Given the description of an element on the screen output the (x, y) to click on. 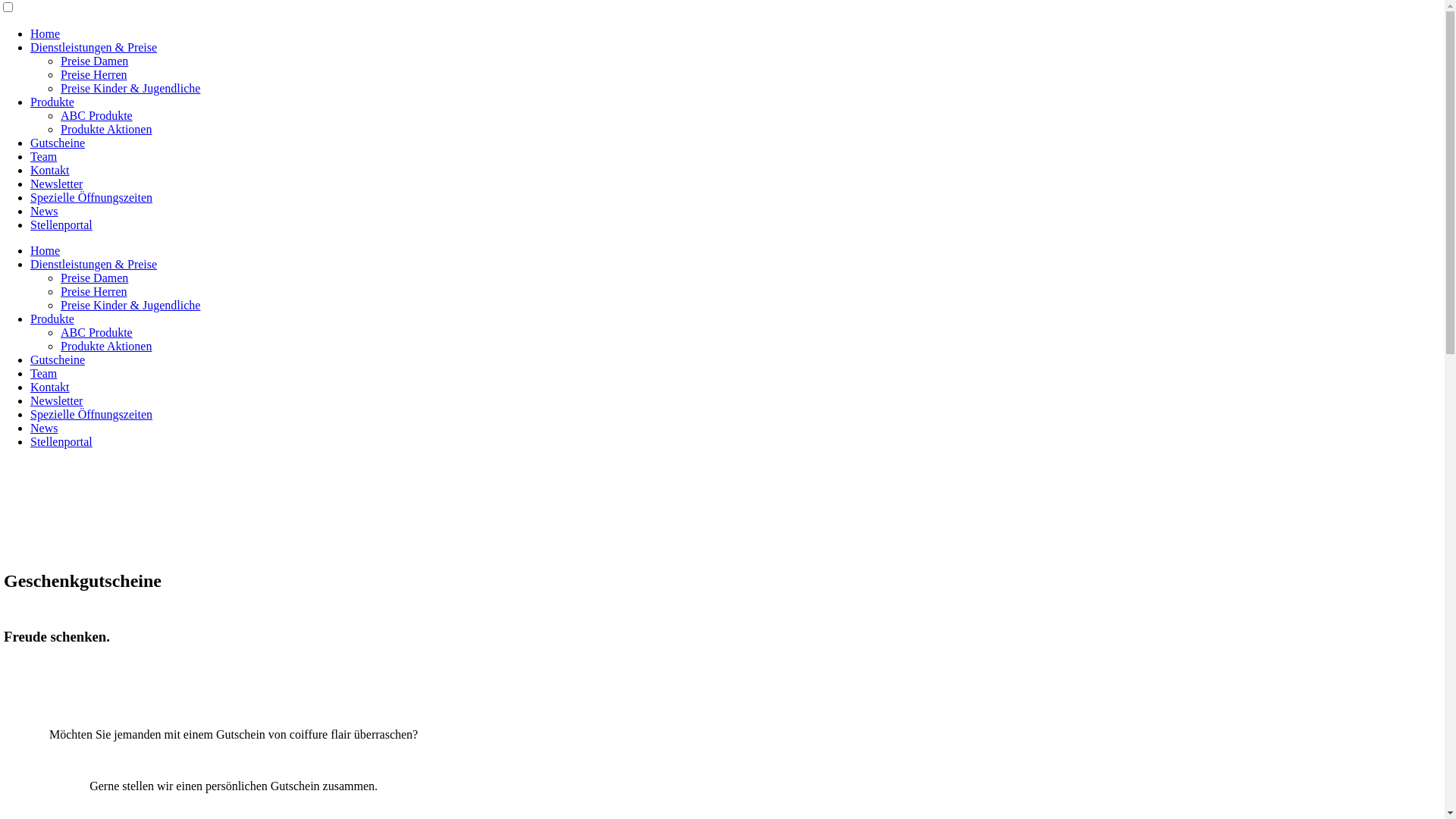
Home Element type: text (44, 250)
News Element type: text (43, 427)
ABC Produkte Element type: text (96, 115)
Newsletter Element type: text (56, 183)
ABC Produkte Element type: text (96, 332)
Kontakt Element type: text (49, 386)
Produkte Aktionen Element type: text (105, 345)
News Element type: text (43, 210)
Dienstleistungen & Preise Element type: text (93, 263)
Newsletter Element type: text (56, 400)
Preise Kinder & Jugendliche Element type: text (130, 304)
Produkte Element type: text (52, 318)
Preise Damen Element type: text (94, 60)
Stellenportal Element type: text (61, 441)
Preise Kinder & Jugendliche Element type: text (130, 87)
Preise Damen Element type: text (94, 277)
Home Element type: text (44, 33)
Kontakt Element type: text (49, 169)
Gutscheine Element type: text (57, 359)
Dienstleistungen & Preise Element type: text (93, 46)
Preise Herren Element type: text (93, 291)
Produkte Aktionen Element type: text (105, 128)
Team Element type: text (43, 373)
Gutscheine Element type: text (57, 142)
Produkte Element type: text (52, 101)
Stellenportal Element type: text (61, 224)
Preise Herren Element type: text (93, 74)
Team Element type: text (43, 156)
